Given the description of an element on the screen output the (x, y) to click on. 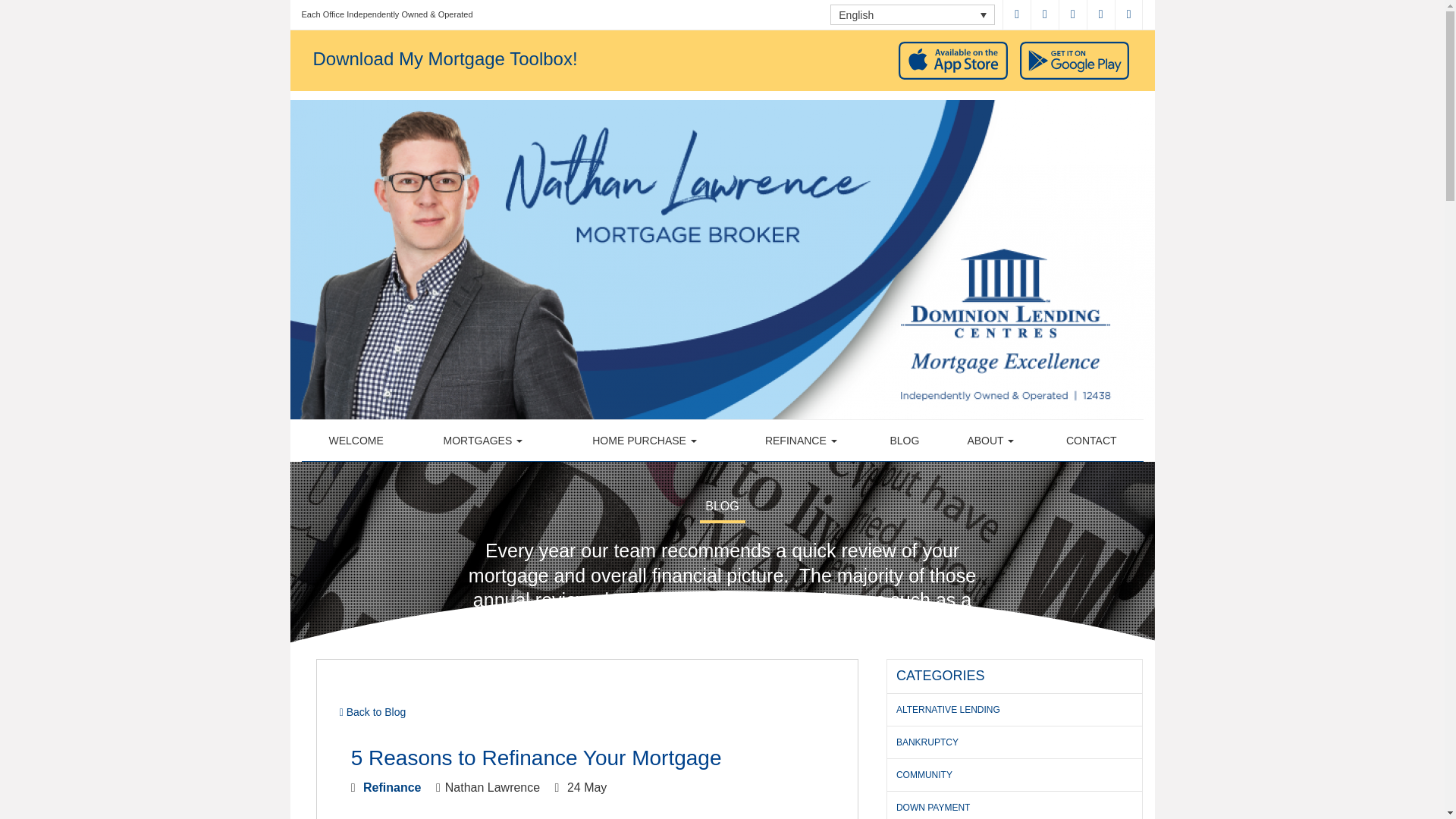
HOME PURCHASE (643, 440)
WELCOME (355, 440)
REFINANCE (800, 440)
MORTGAGES (482, 440)
English (911, 14)
